Given the description of an element on the screen output the (x, y) to click on. 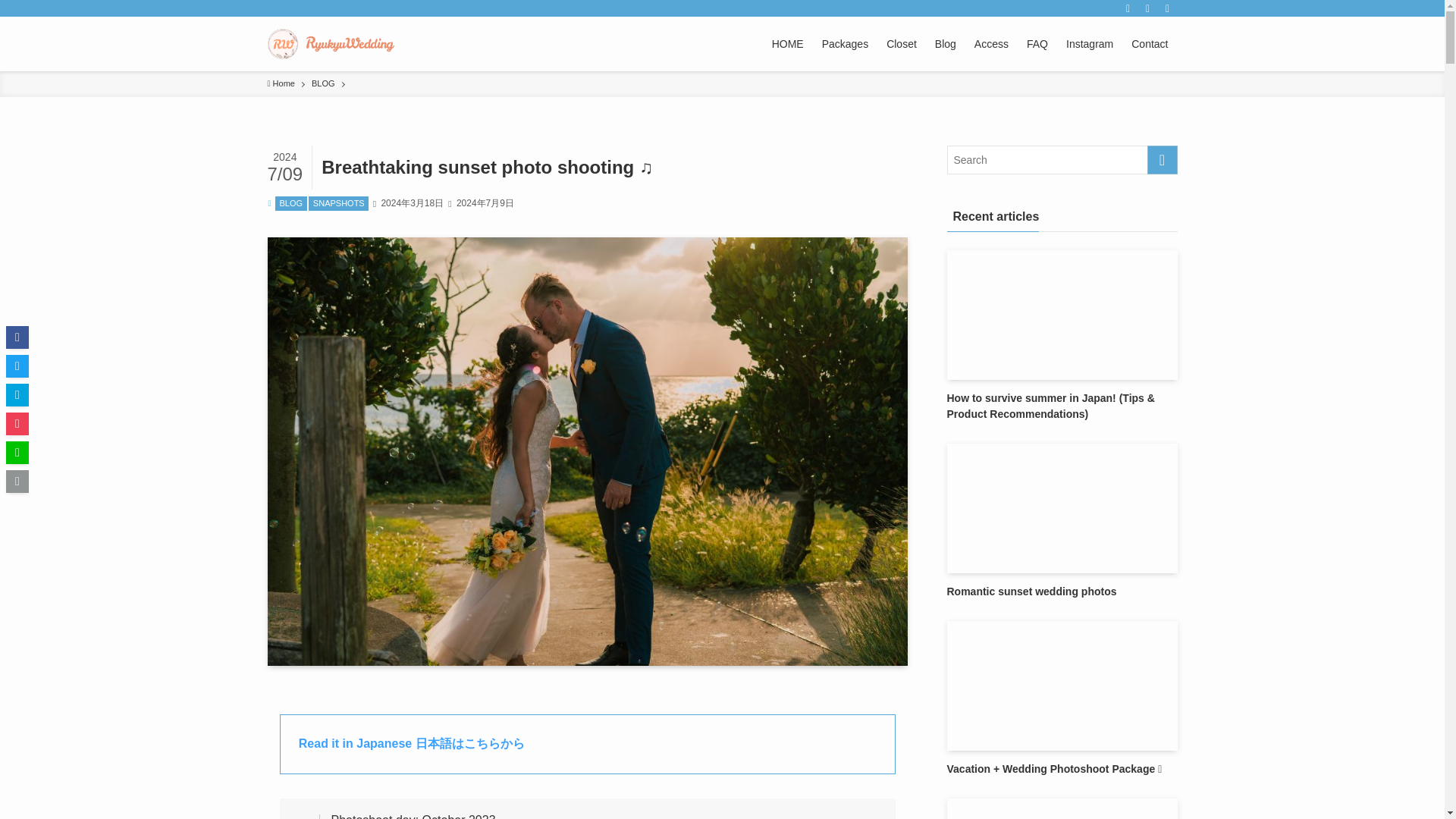
Save to Pocket (17, 423)
Closet (901, 43)
Register in Hatena Bookmark (17, 395)
Access (991, 43)
Instagram (1089, 43)
Packages (844, 43)
Share on Twitter (17, 365)
Send to LINE (17, 452)
BLOG (291, 203)
Home (280, 83)
